Given the description of an element on the screen output the (x, y) to click on. 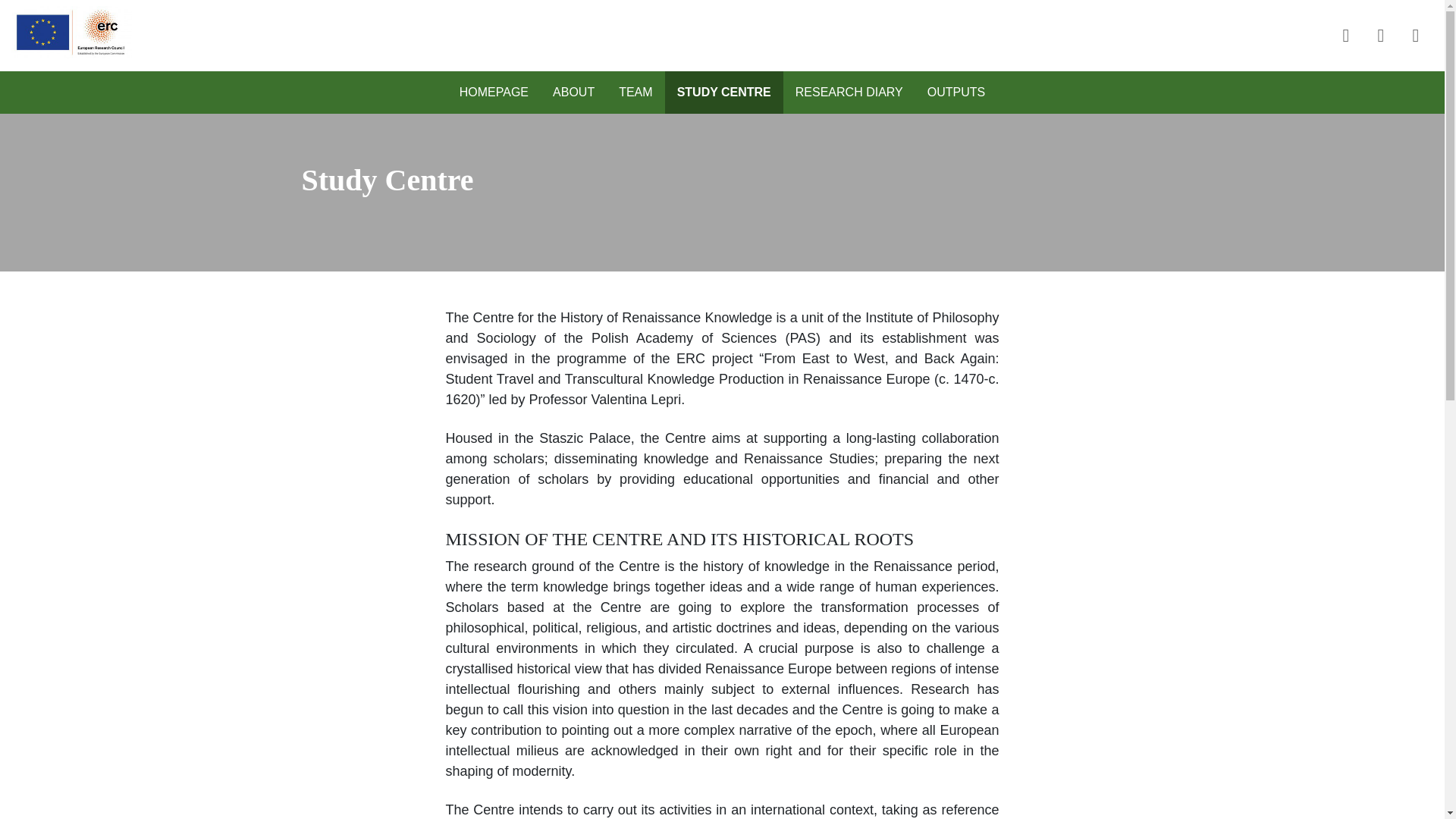
HOMEPAGE (493, 92)
ABOUT (573, 92)
OUTPUTS (956, 92)
RESEARCH DIARY (849, 92)
STUDY CENTRE (724, 92)
TEAM (635, 92)
